Given the description of an element on the screen output the (x, y) to click on. 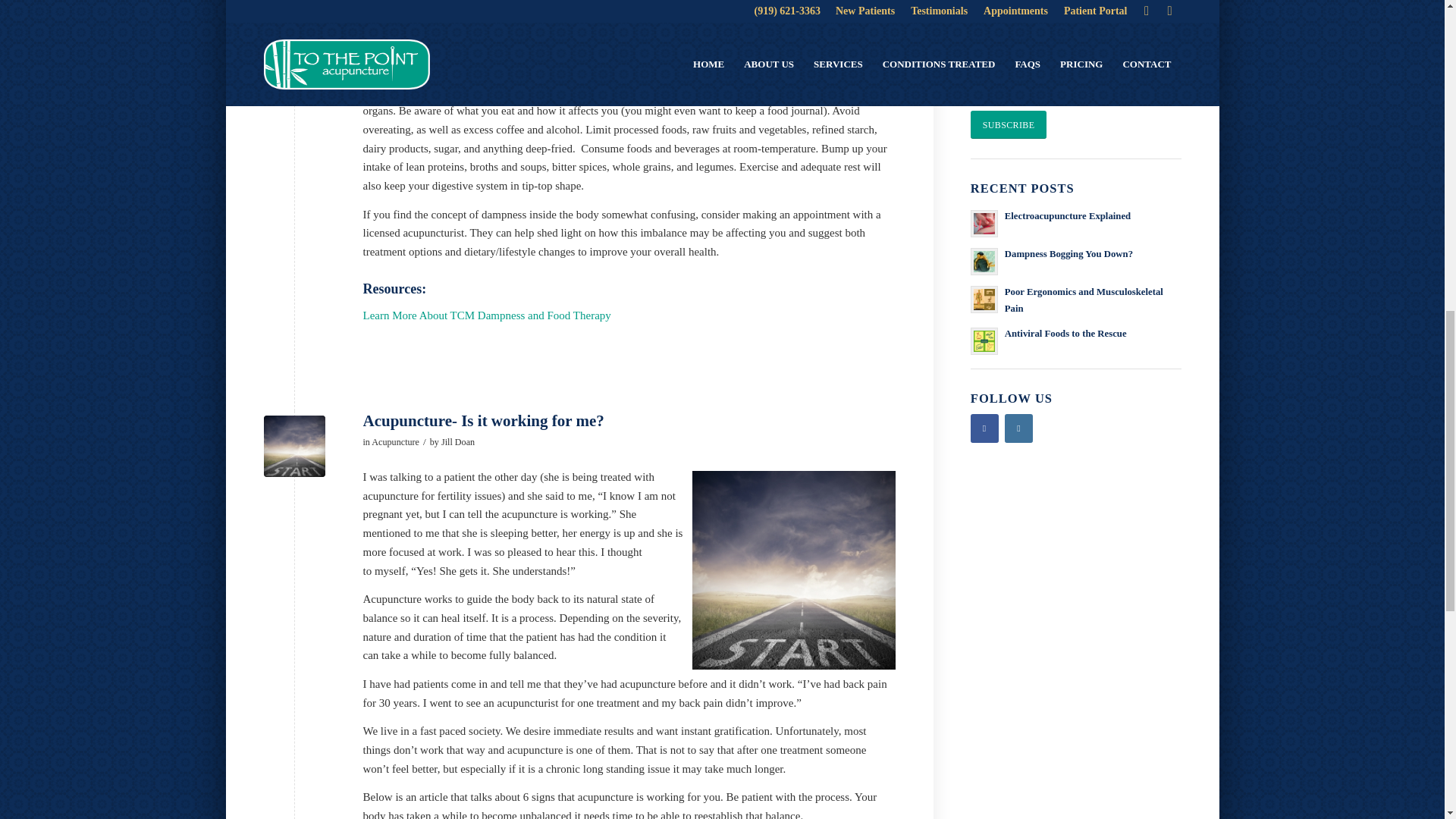
Learn More About TCM Dampness and Food Therapy (486, 315)
Acupuncture (395, 441)
Jill Doan (457, 441)
Posts by Jill Doan (457, 441)
Acupuncture- Is it working for me?  (485, 420)
